Given the description of an element on the screen output the (x, y) to click on. 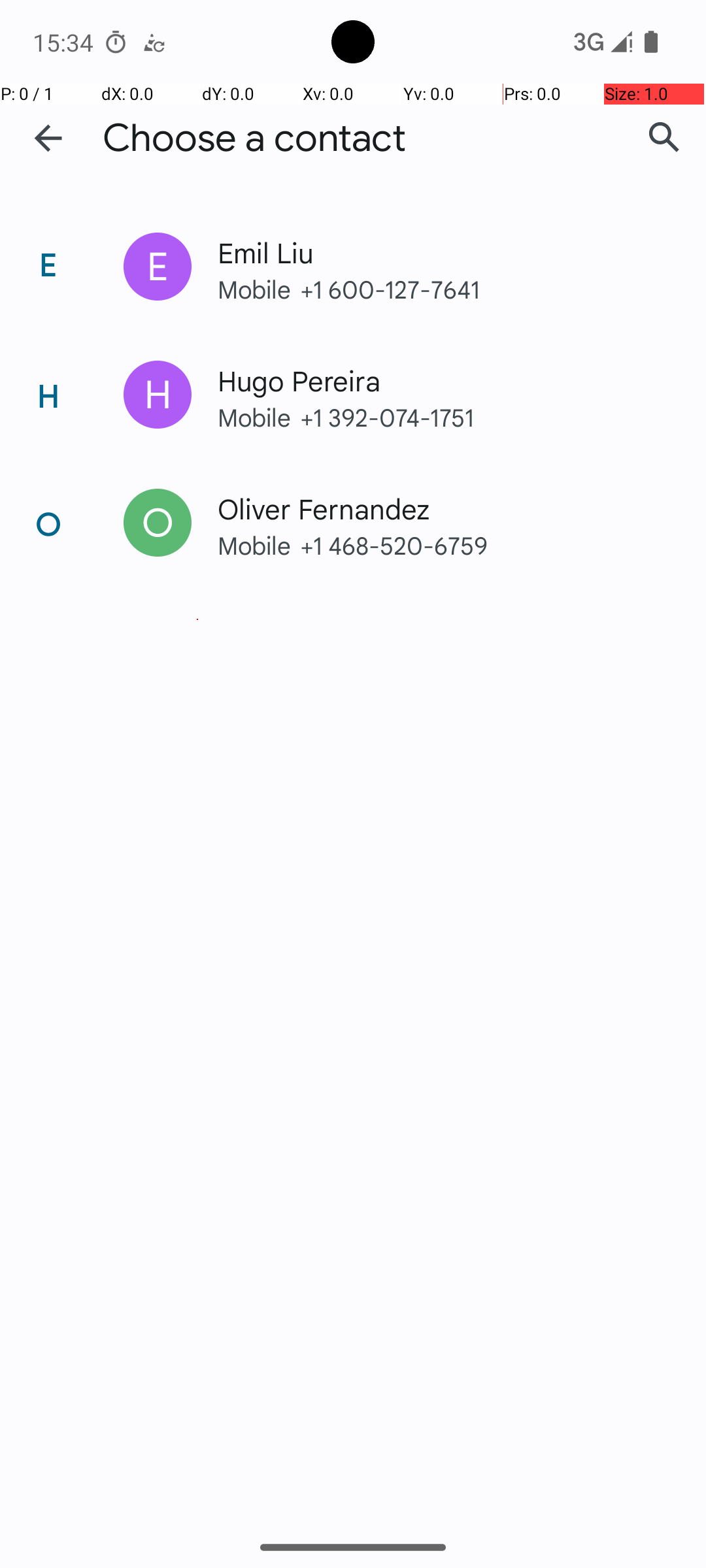
Choose a contact Element type: android.widget.TextView (253, 138)
Search contacts Element type: android.widget.Button (664, 137)
+1 600-127-7641 Element type: android.widget.TextView (475, 288)
+1 392-074-1751 Element type: android.widget.TextView (475, 416)
Oliver Fernandez Element type: android.widget.TextView (434, 507)
+1 468-520-6759 Element type: android.widget.TextView (475, 544)
